Given the description of an element on the screen output the (x, y) to click on. 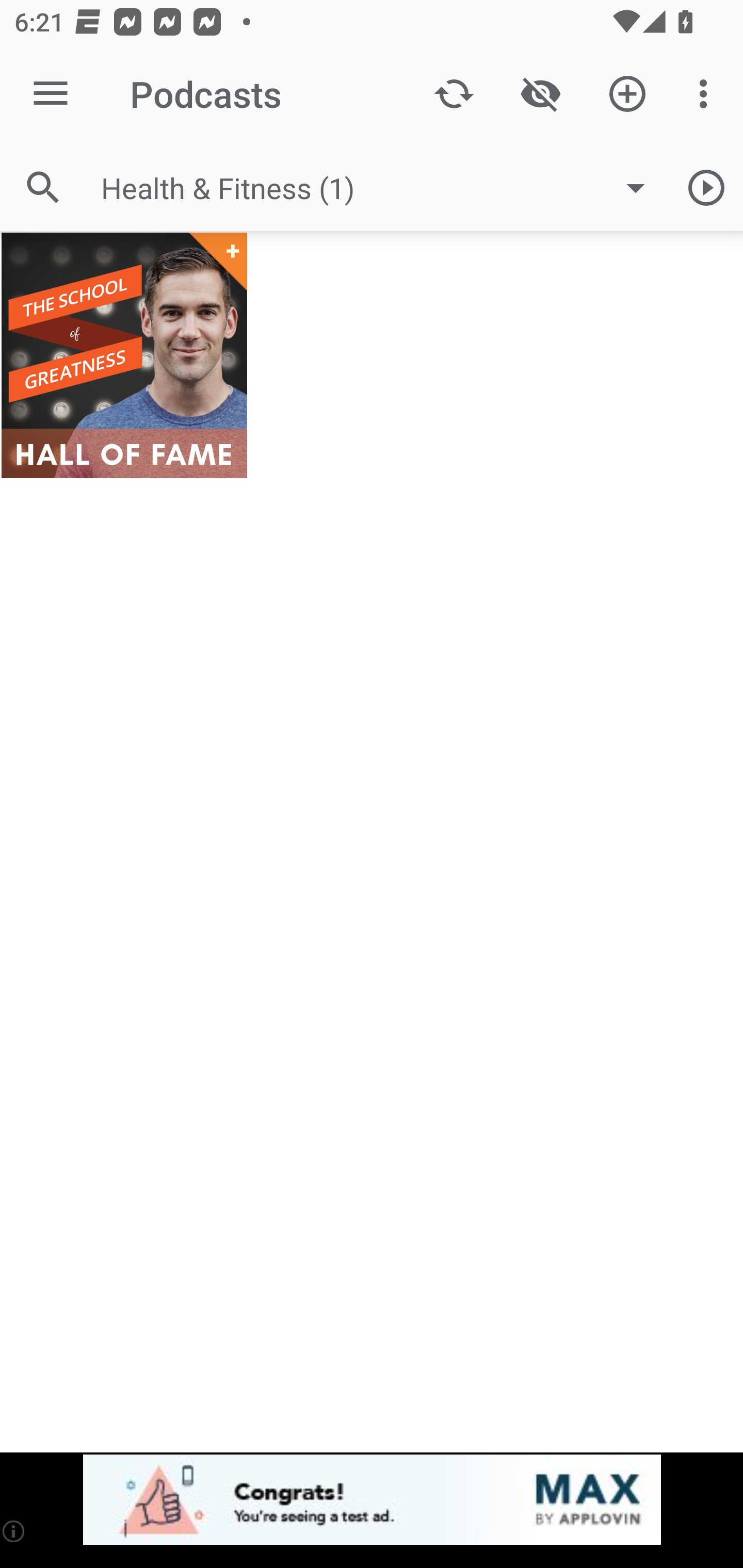
Open navigation sidebar (50, 93)
Update (453, 93)
Show / Hide played content (540, 93)
Add new Podcast (626, 93)
More options (706, 93)
Search (43, 187)
Health & Fitness (1) (382, 188)
The School of Greatness Hall of Fame + (124, 355)
app-monetization (371, 1500)
(i) (14, 1531)
